Given the description of an element on the screen output the (x, y) to click on. 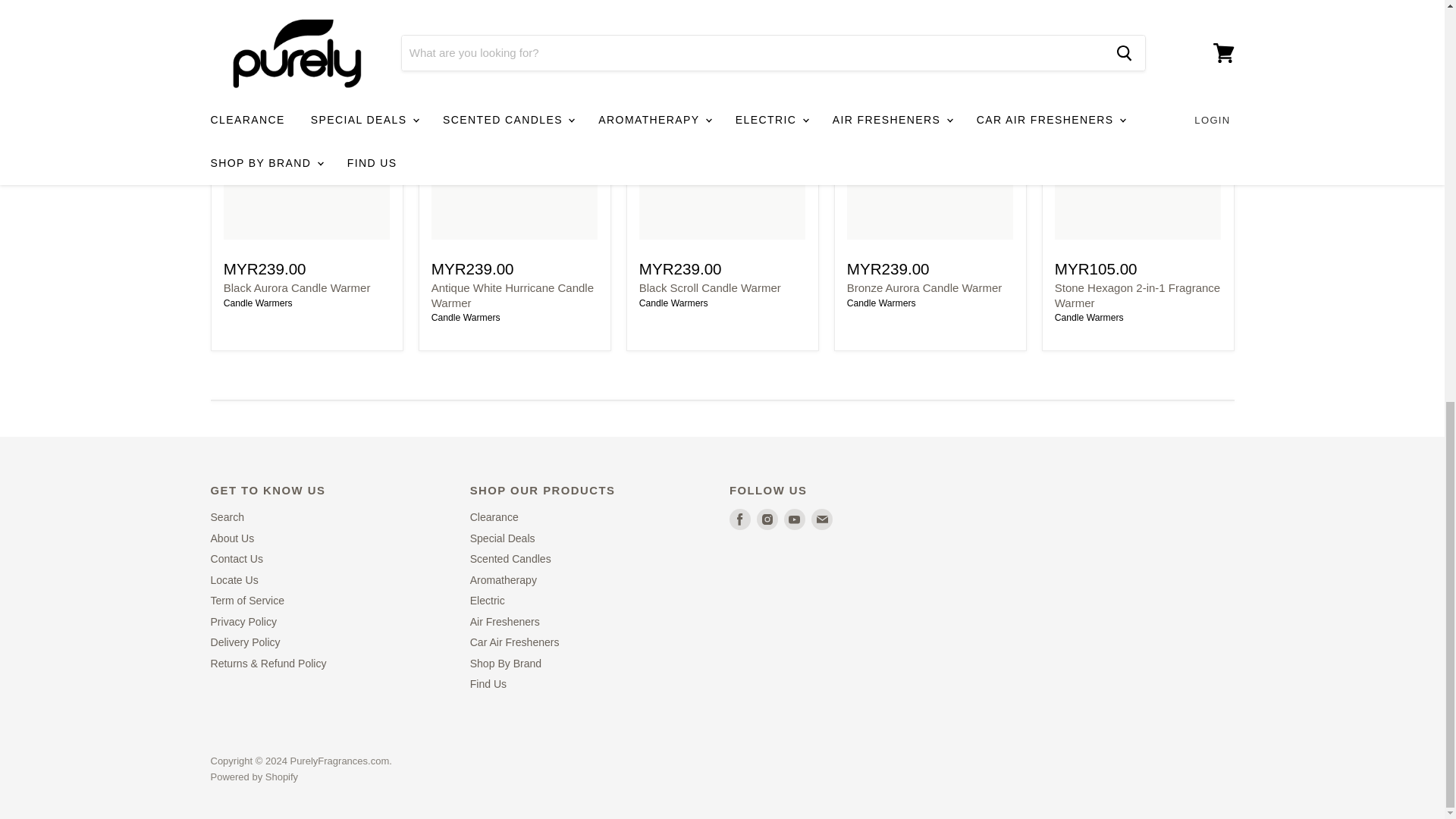
Candle Warmers (1089, 317)
Candle Warmers (258, 303)
Facebook (740, 518)
Instagram (767, 518)
Email (821, 518)
Youtube (794, 518)
Candle Warmers (881, 303)
Candle Warmers (673, 303)
Candle Warmers (465, 317)
